Given the description of an element on the screen output the (x, y) to click on. 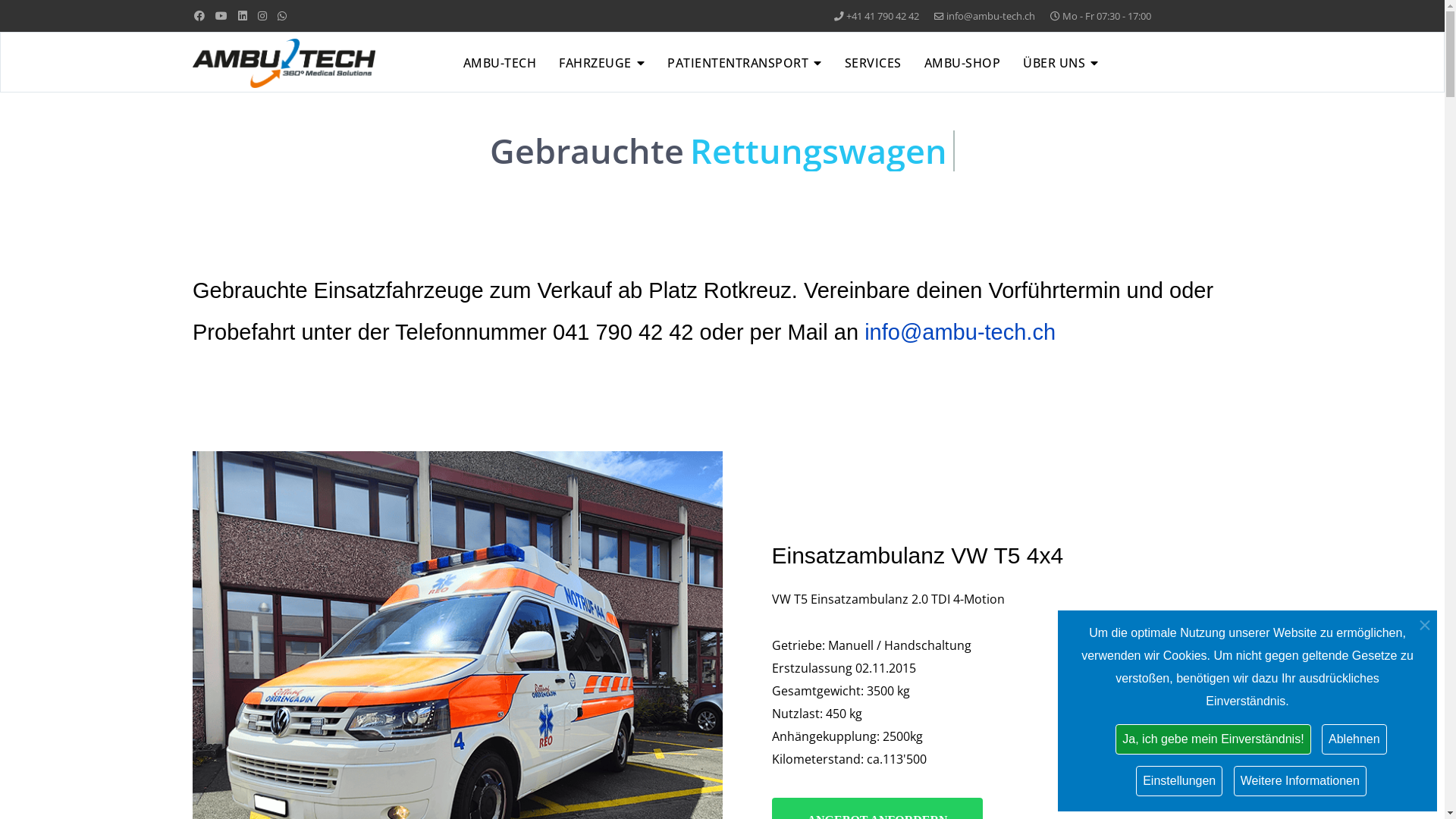
AMBU-SHOP Element type: text (962, 62)
PATIENTENTRANSPORT Element type: text (744, 62)
1 Element type: text (680, 403)
+41 41 790 42 42 Element type: text (882, 15)
Einstellungen speichern Element type: text (886, 542)
Weitere Informationen Element type: text (1299, 780)
Einstellungen Element type: text (1178, 780)
AMBU-TECH Element type: text (499, 62)
FAHRZEUGE Element type: text (601, 62)
Ablehnen Element type: text (1353, 739)
SERVICES Element type: text (873, 62)
info@ambu-tech.ch Element type: text (990, 15)
Alle Cookies ablehnen Element type: text (720, 542)
Allow All Cookies Element type: text (562, 542)
info@ambu-tech.ch Element type: text (959, 332)
